Given the description of an element on the screen output the (x, y) to click on. 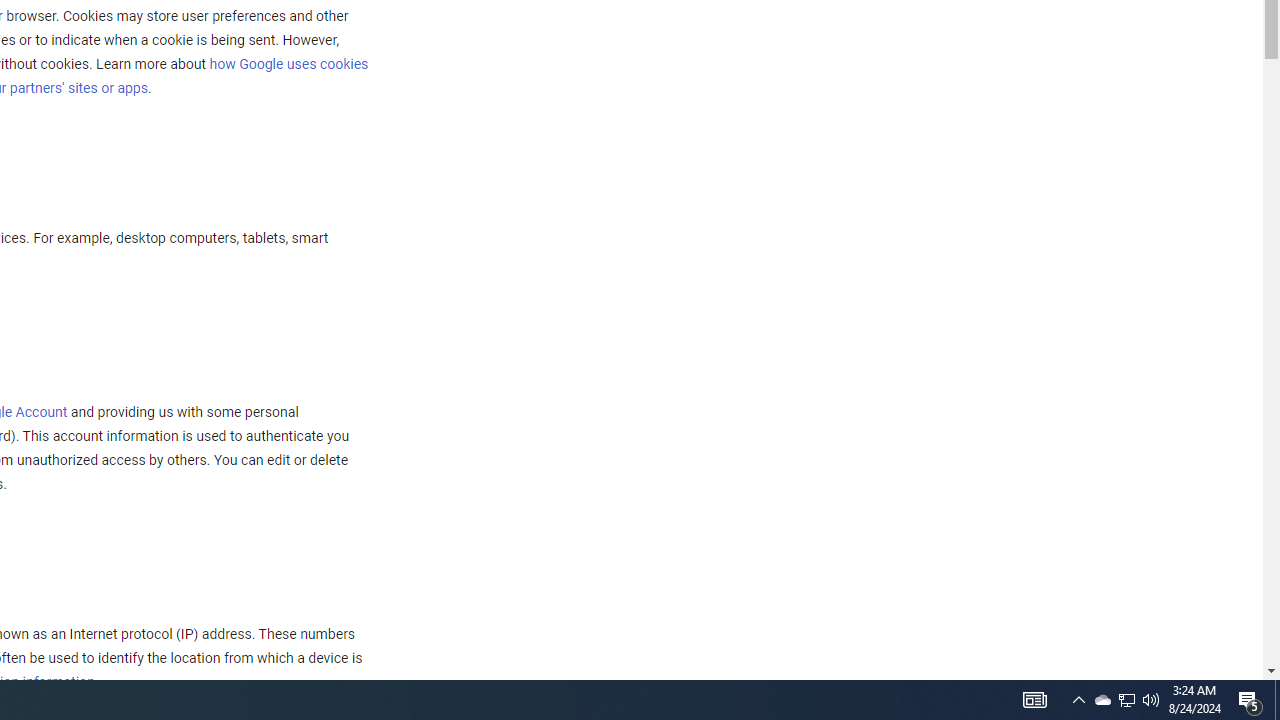
how Google uses cookies (288, 63)
